Given the description of an element on the screen output the (x, y) to click on. 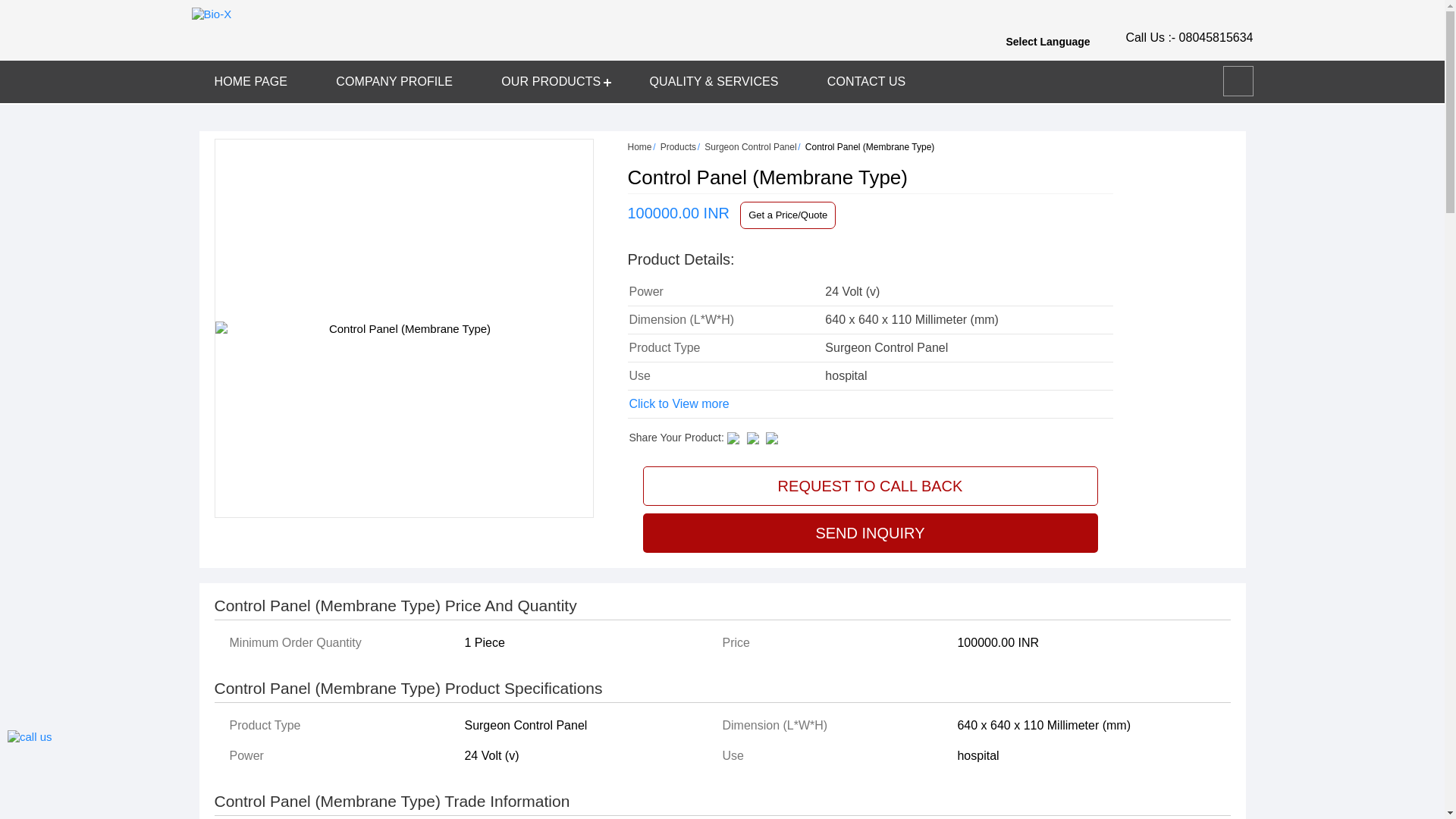
Select Language (1056, 41)
COMPANY PROFILE (394, 81)
HOME PAGE (250, 81)
Bio-X (210, 13)
OUR PRODUCTS (551, 81)
